Given the description of an element on the screen output the (x, y) to click on. 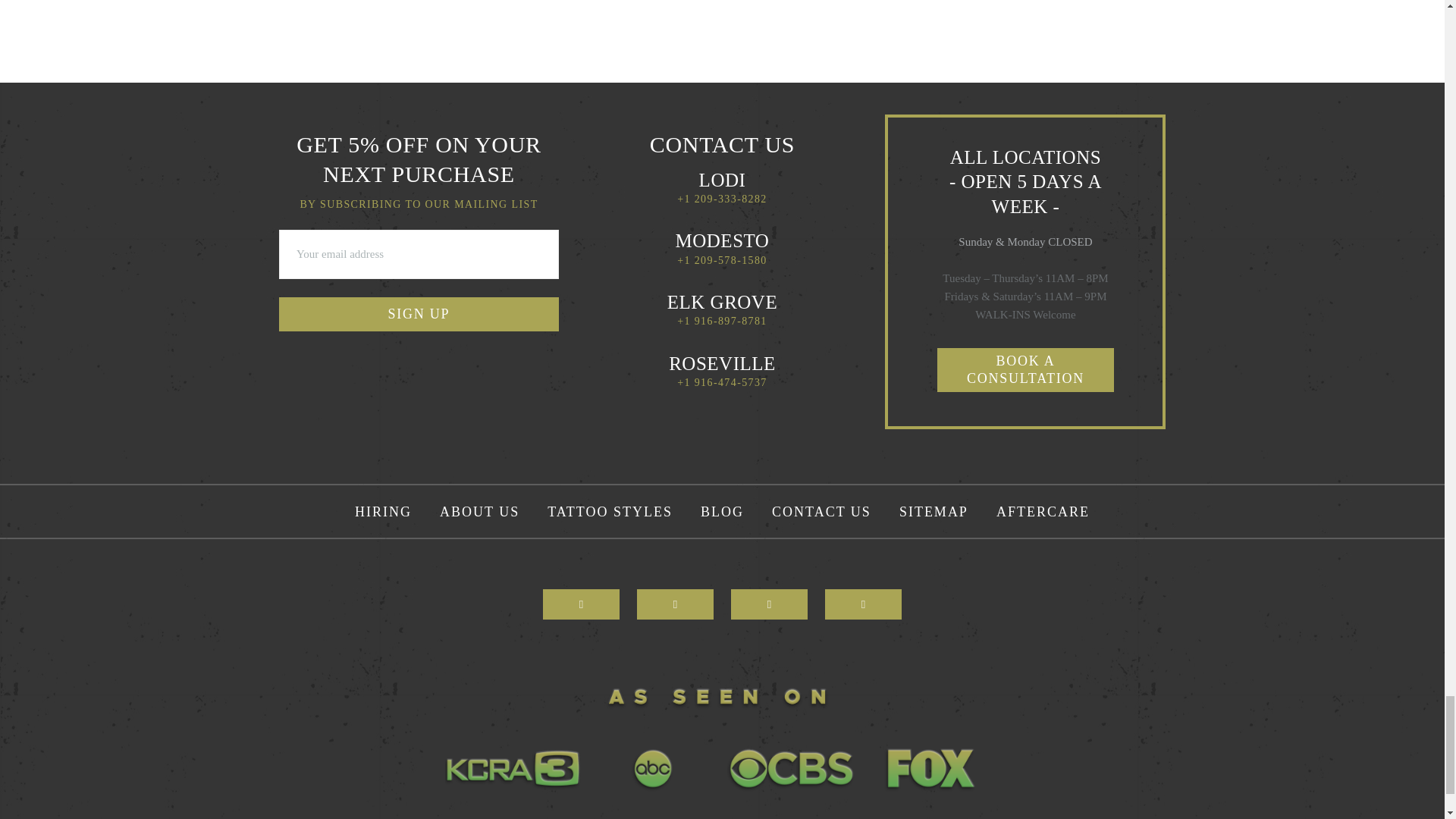
Sign up (419, 314)
